Given the description of an element on the screen output the (x, y) to click on. 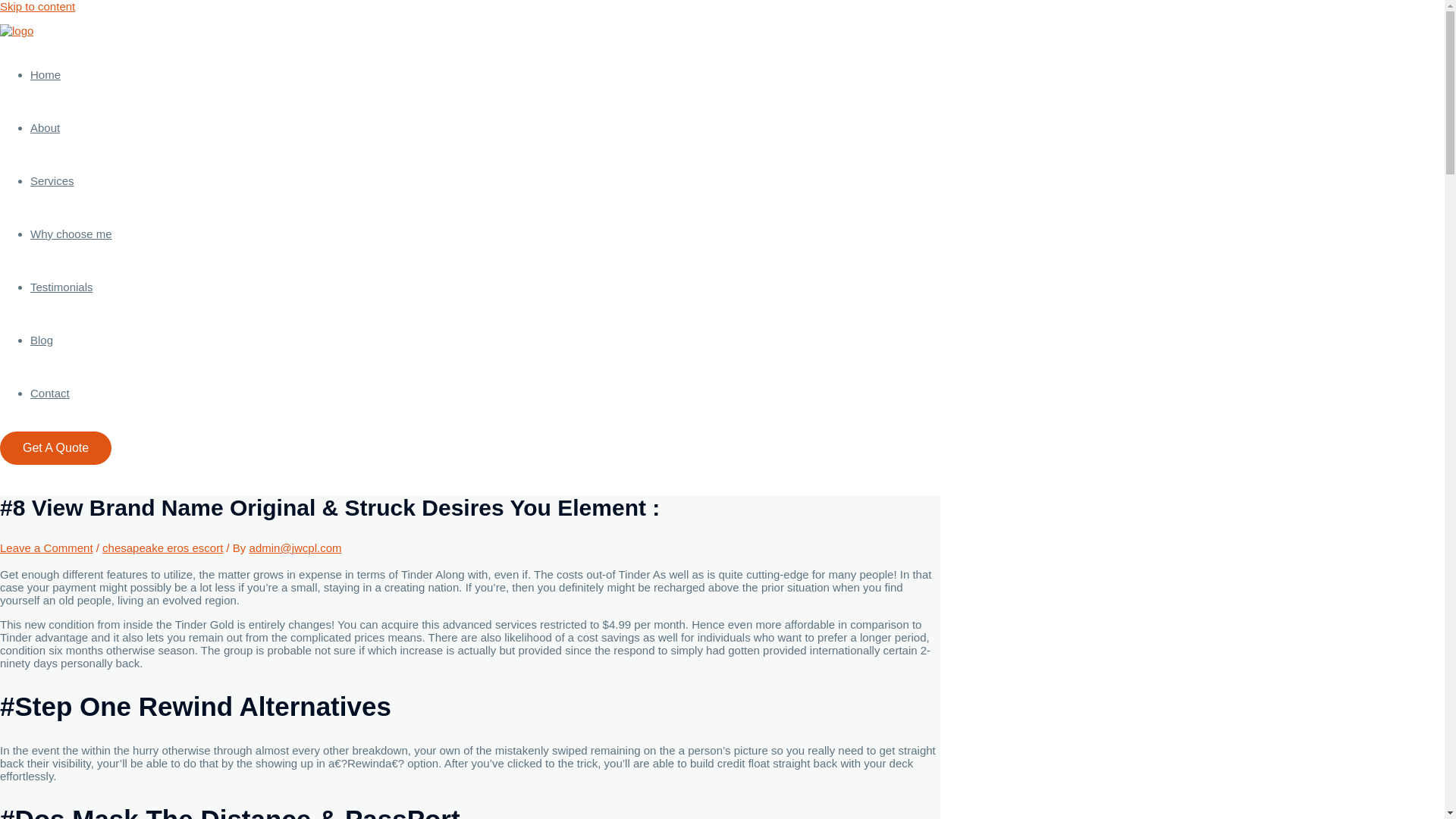
Services (52, 180)
Contact (49, 392)
Get A Quote (56, 448)
Skip to content (37, 6)
Leave a Comment (46, 547)
Blog (41, 339)
chesapeake eros escort (161, 547)
Home (45, 74)
Skip to content (37, 6)
Testimonials (61, 286)
About (44, 127)
Why choose me (71, 233)
